Given the description of an element on the screen output the (x, y) to click on. 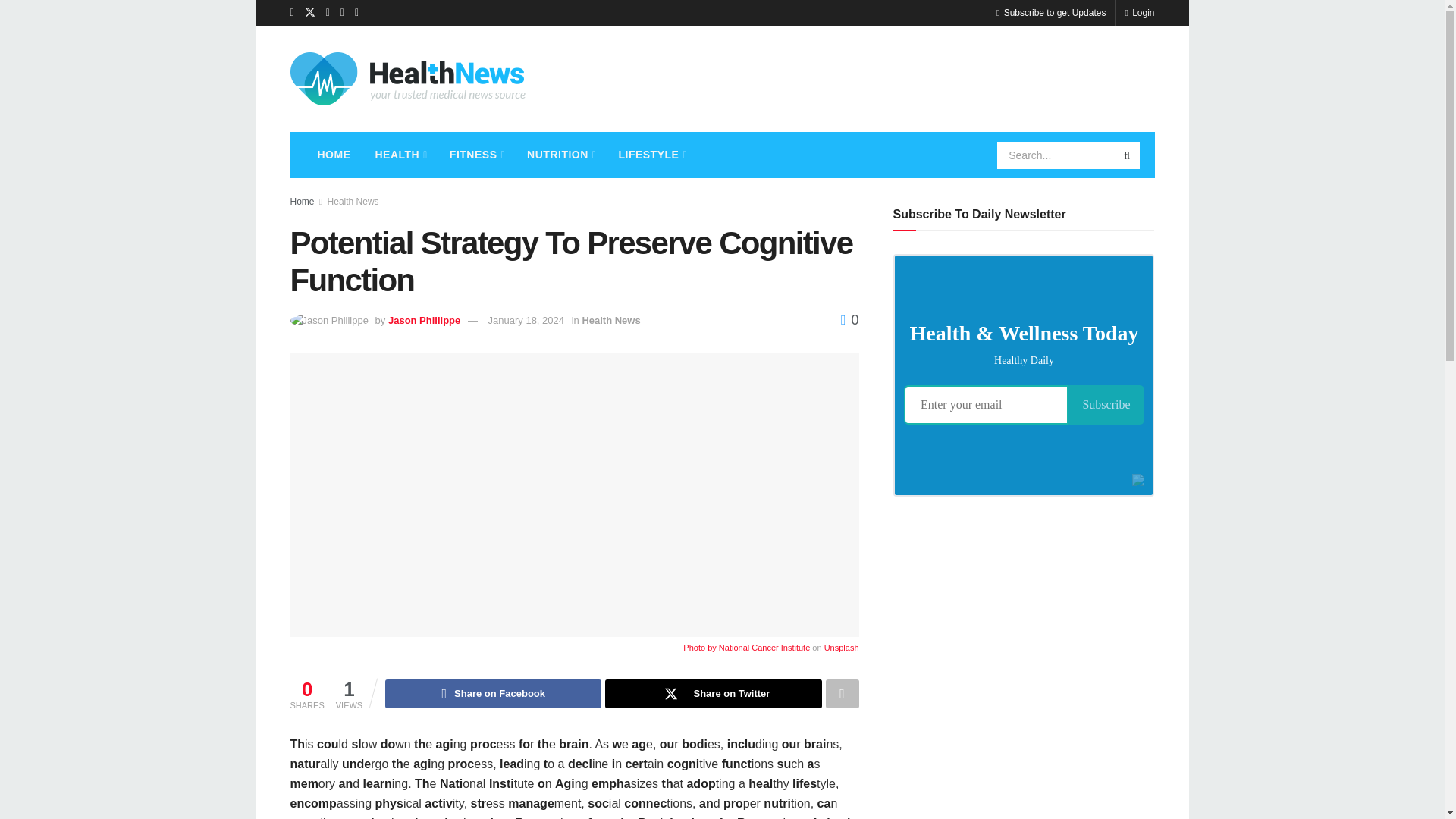
HOME (333, 154)
FITNESS (476, 154)
HEALTH (399, 154)
Login (1139, 12)
Subscribe to get Updates (1050, 12)
